Given the description of an element on the screen output the (x, y) to click on. 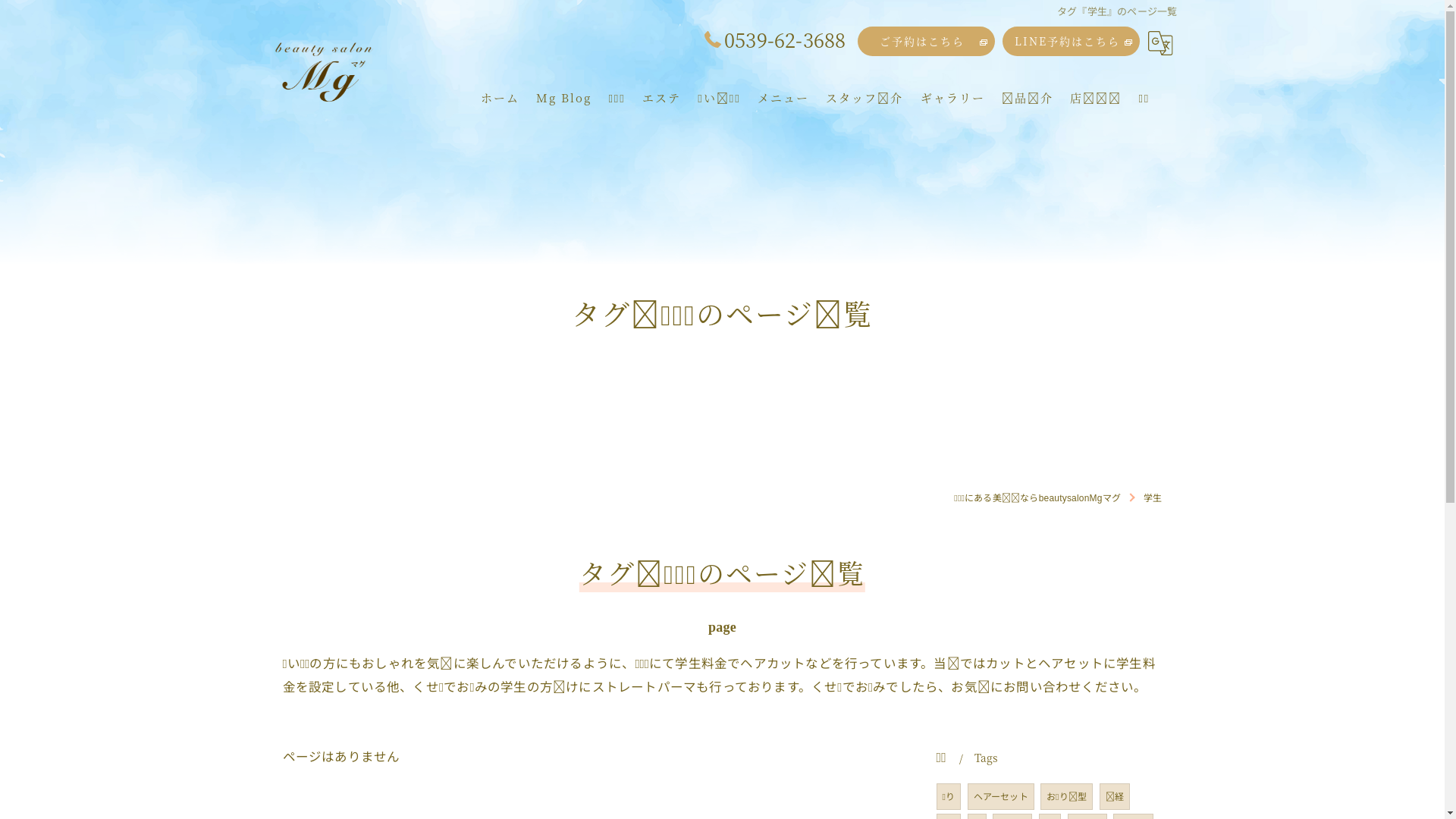
Mg Blog Element type: text (563, 97)
